Given the description of an element on the screen output the (x, y) to click on. 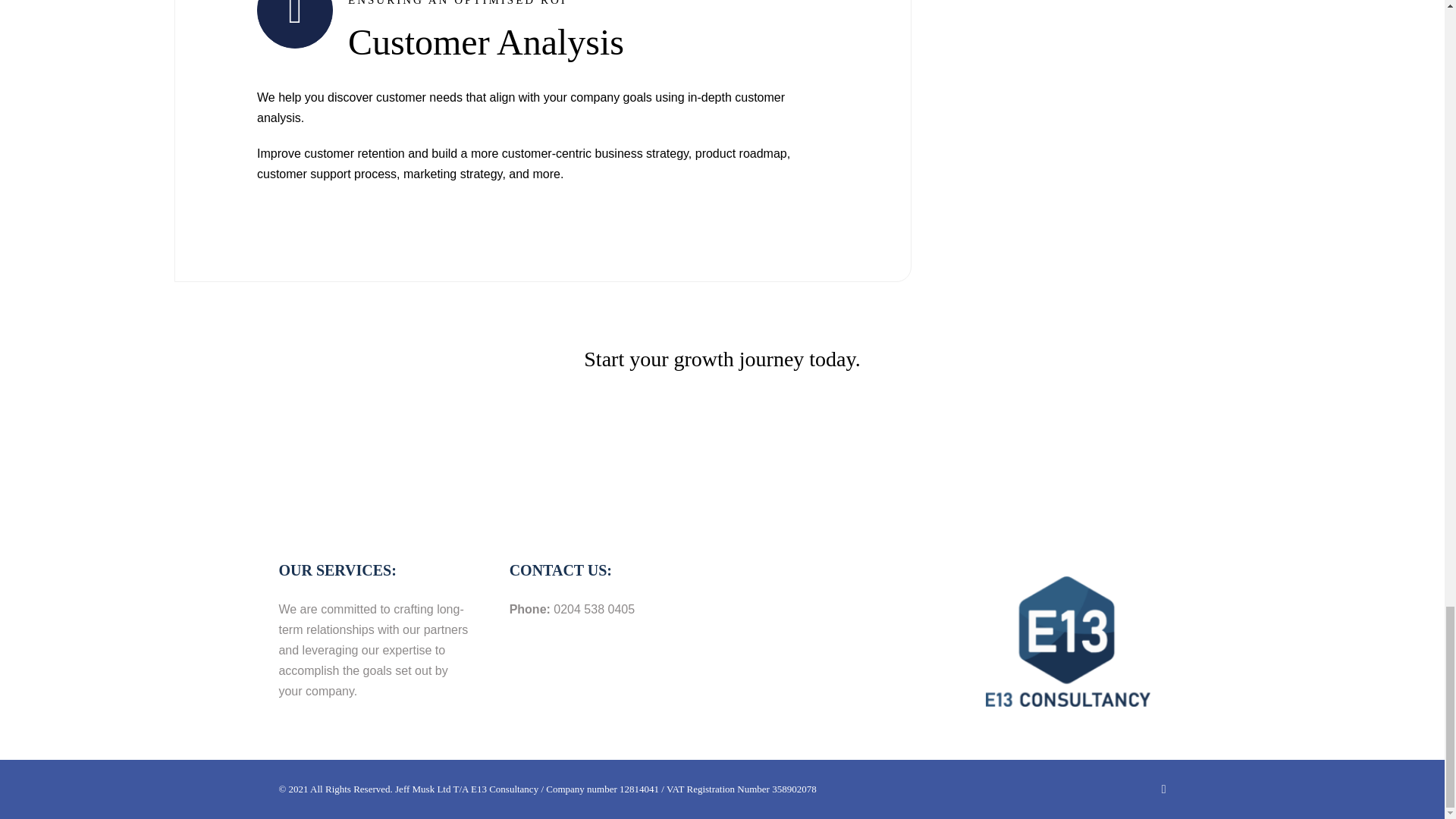
e13-logo-text (1068, 641)
0204 538 0405 (593, 608)
